Given the description of an element on the screen output the (x, y) to click on. 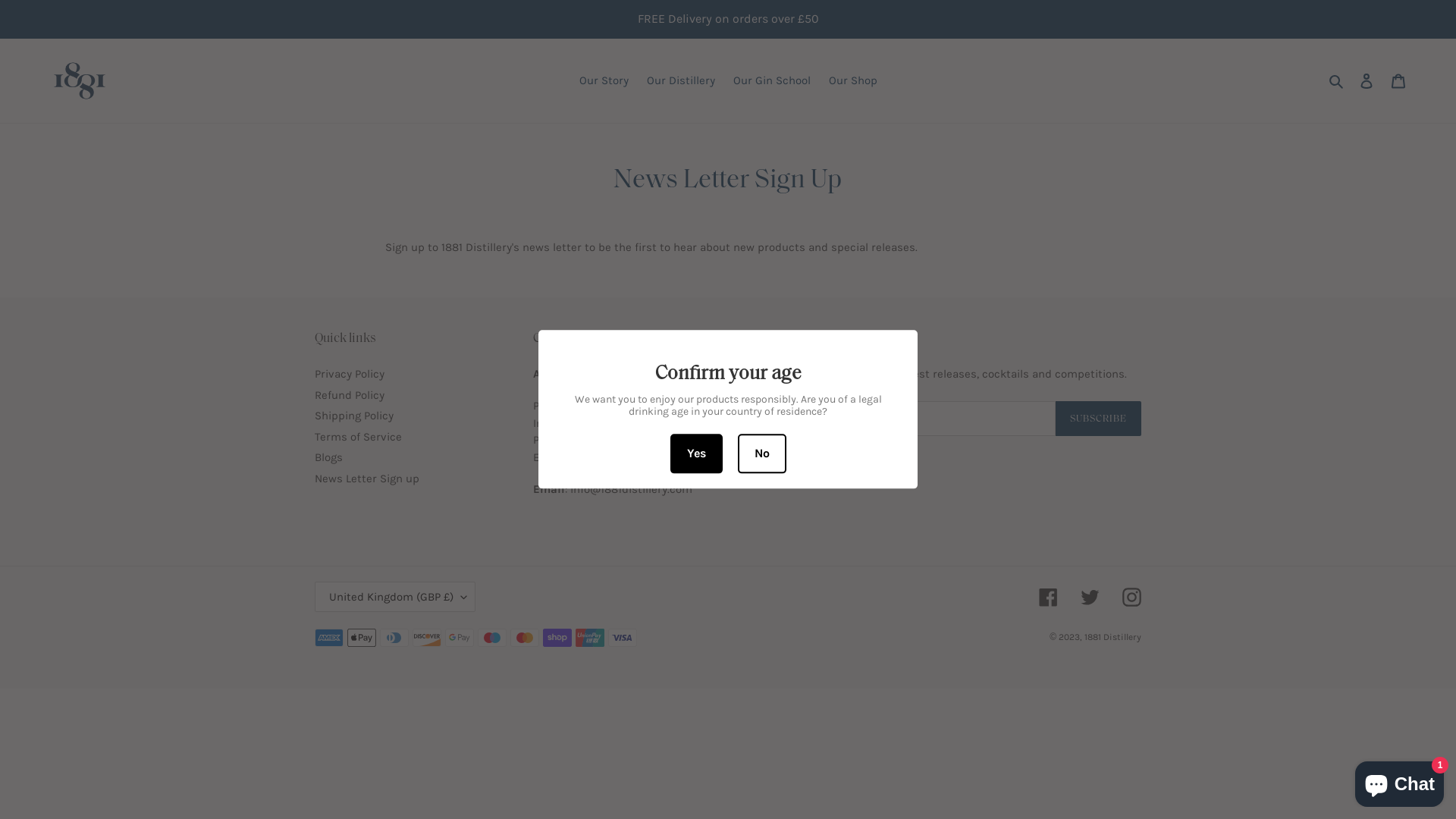
Our Distillery Element type: text (679, 80)
Privacy Policy Element type: text (349, 373)
Twitter Element type: text (1089, 596)
Shopify online store chat Element type: hover (1399, 780)
SUBSCRIBE Element type: text (1098, 418)
Our Gin School Element type: text (770, 80)
Log in Element type: text (1366, 80)
Blogs Element type: text (328, 457)
News Letter Sign up Element type: text (366, 478)
Instagram Element type: text (1131, 596)
Shipping Policy Element type: text (353, 415)
No Element type: text (761, 453)
Facebook Element type: text (1047, 596)
Refund Policy Element type: text (349, 394)
1881 Distillery Element type: text (1112, 636)
Yes Element type: text (696, 453)
Search Element type: text (1337, 80)
Cart Element type: text (1398, 80)
Our Shop Element type: text (852, 80)
Terms of Service Element type: text (357, 436)
Our Story Element type: text (603, 80)
